Given the description of an element on the screen output the (x, y) to click on. 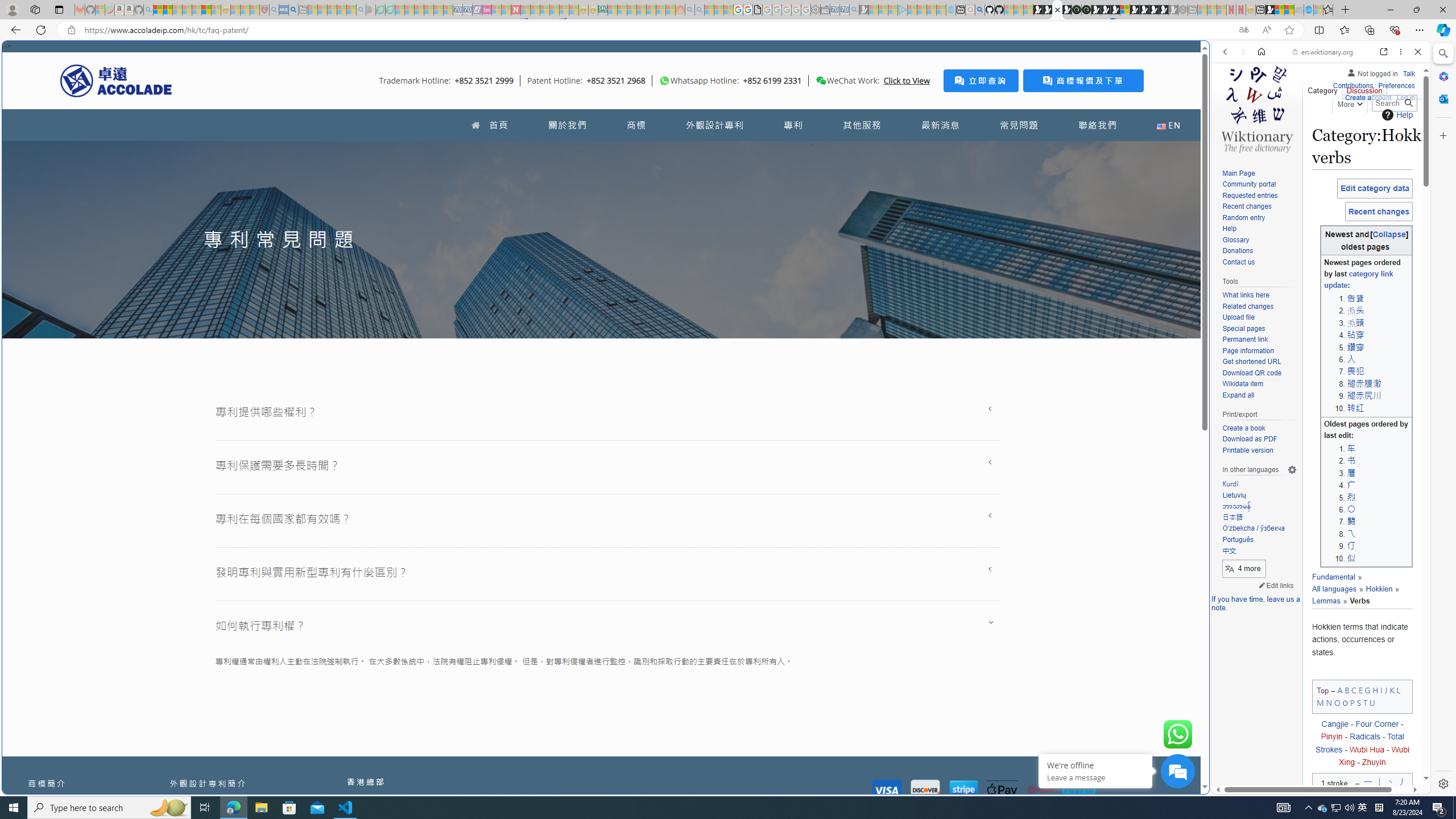
Related changes (1259, 306)
N (1329, 701)
Random entry (1243, 216)
A (1339, 689)
Download QR code (1259, 373)
Create account (1367, 98)
Permanent link (1259, 339)
